Given the description of an element on the screen output the (x, y) to click on. 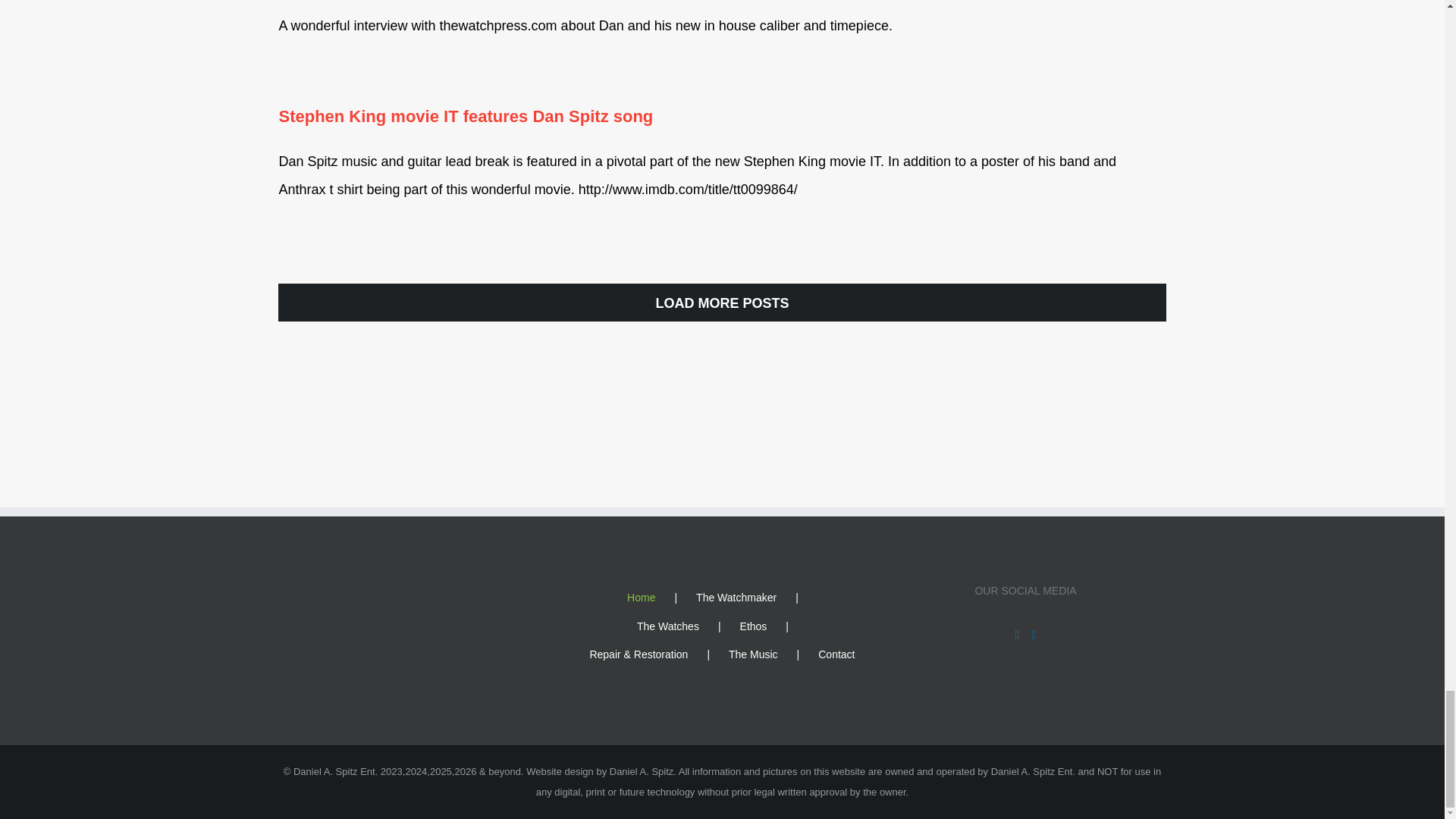
Ethos (773, 626)
The Watchmaker (755, 598)
The Music (773, 654)
Contact (836, 654)
Home (661, 598)
Stephen King movie IT features Dan Spitz song (465, 116)
LOAD MORE POSTS (722, 302)
The Watches (688, 626)
